Given the description of an element on the screen output the (x, y) to click on. 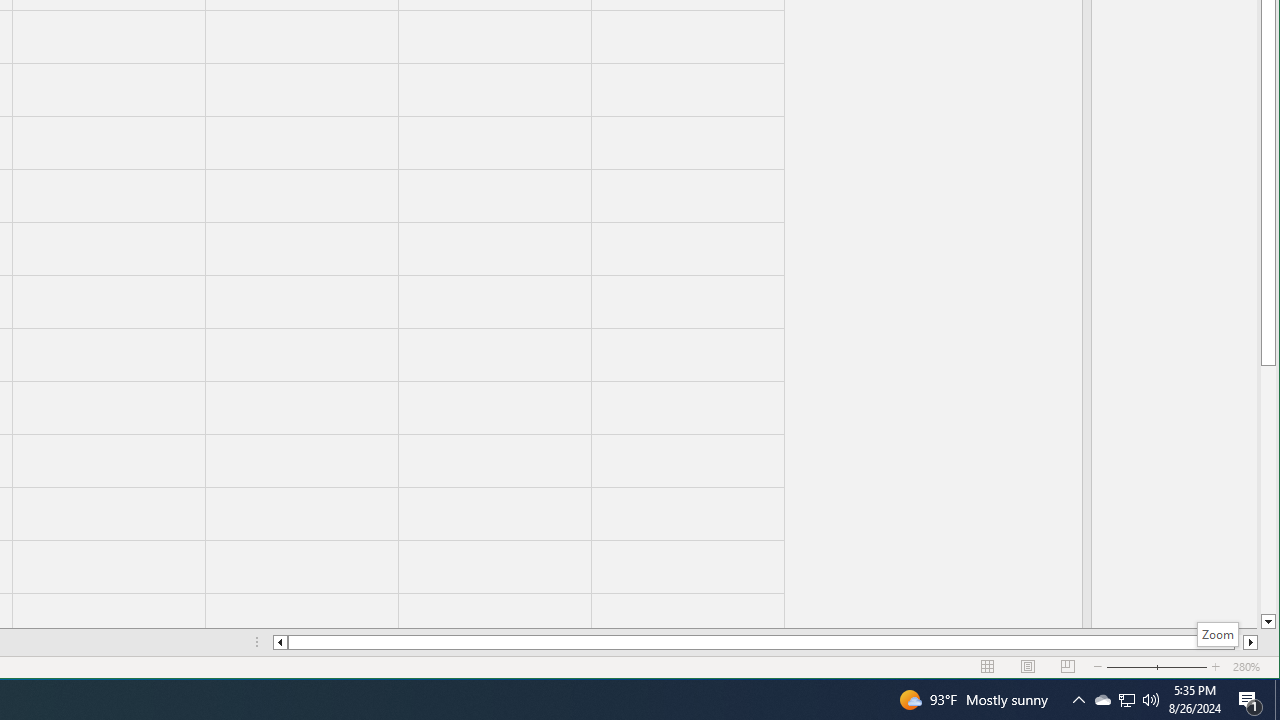
User Promoted Notification Area (1126, 699)
Zoom (1217, 634)
Column left (279, 642)
Class: NetUIScrollBar (765, 642)
Page Layout (1028, 667)
Line down (1268, 622)
Page Break Preview (1068, 667)
